Given the description of an element on the screen output the (x, y) to click on. 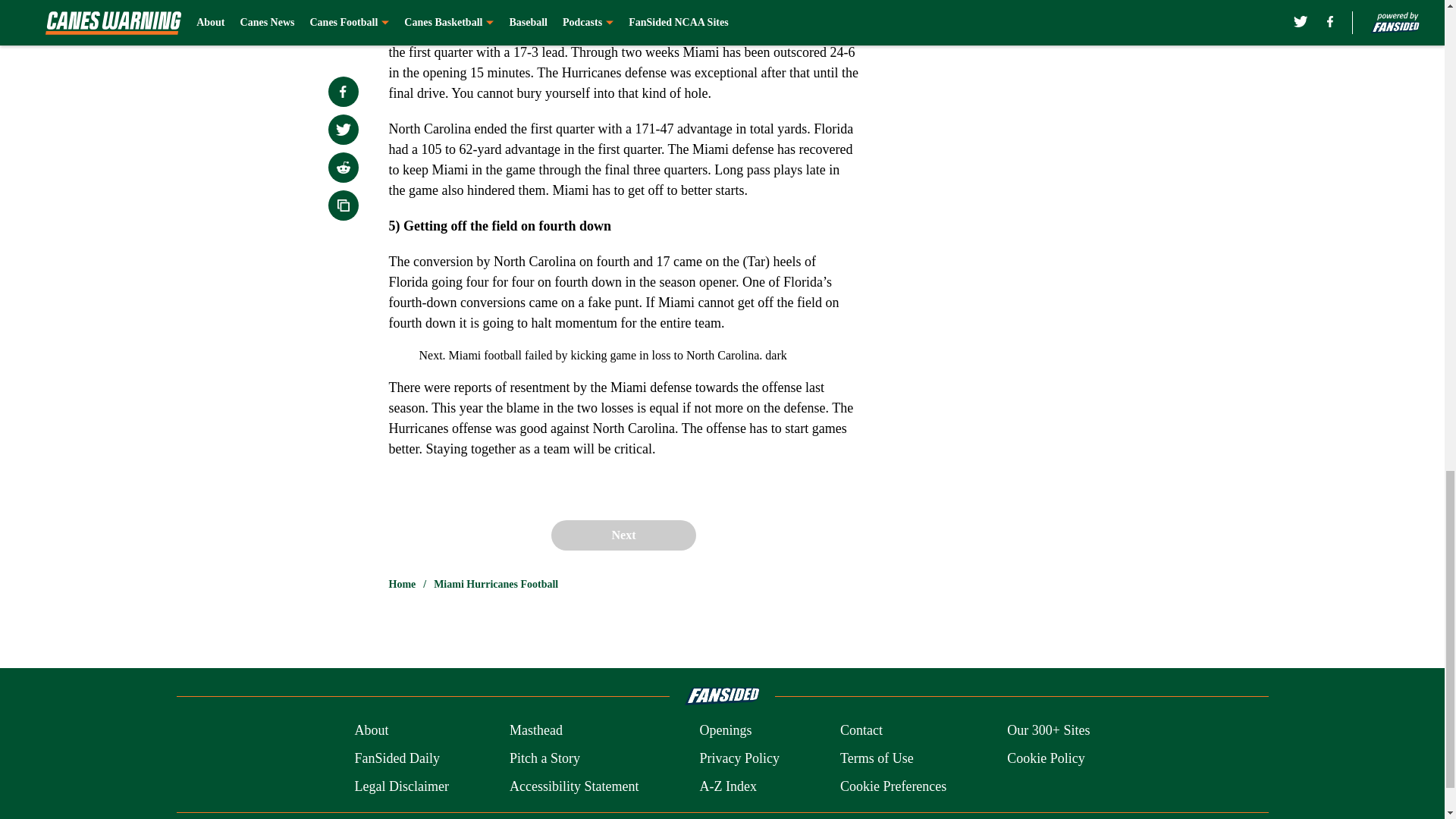
Masthead (535, 730)
Contact (861, 730)
Openings (724, 730)
Cookie Policy (1045, 758)
Next (622, 535)
FanSided Daily (396, 758)
Terms of Use (877, 758)
Privacy Policy (738, 758)
Home (401, 584)
Miami Hurricanes Football (495, 584)
Pitch a Story (544, 758)
About (370, 730)
